Given the description of an element on the screen output the (x, y) to click on. 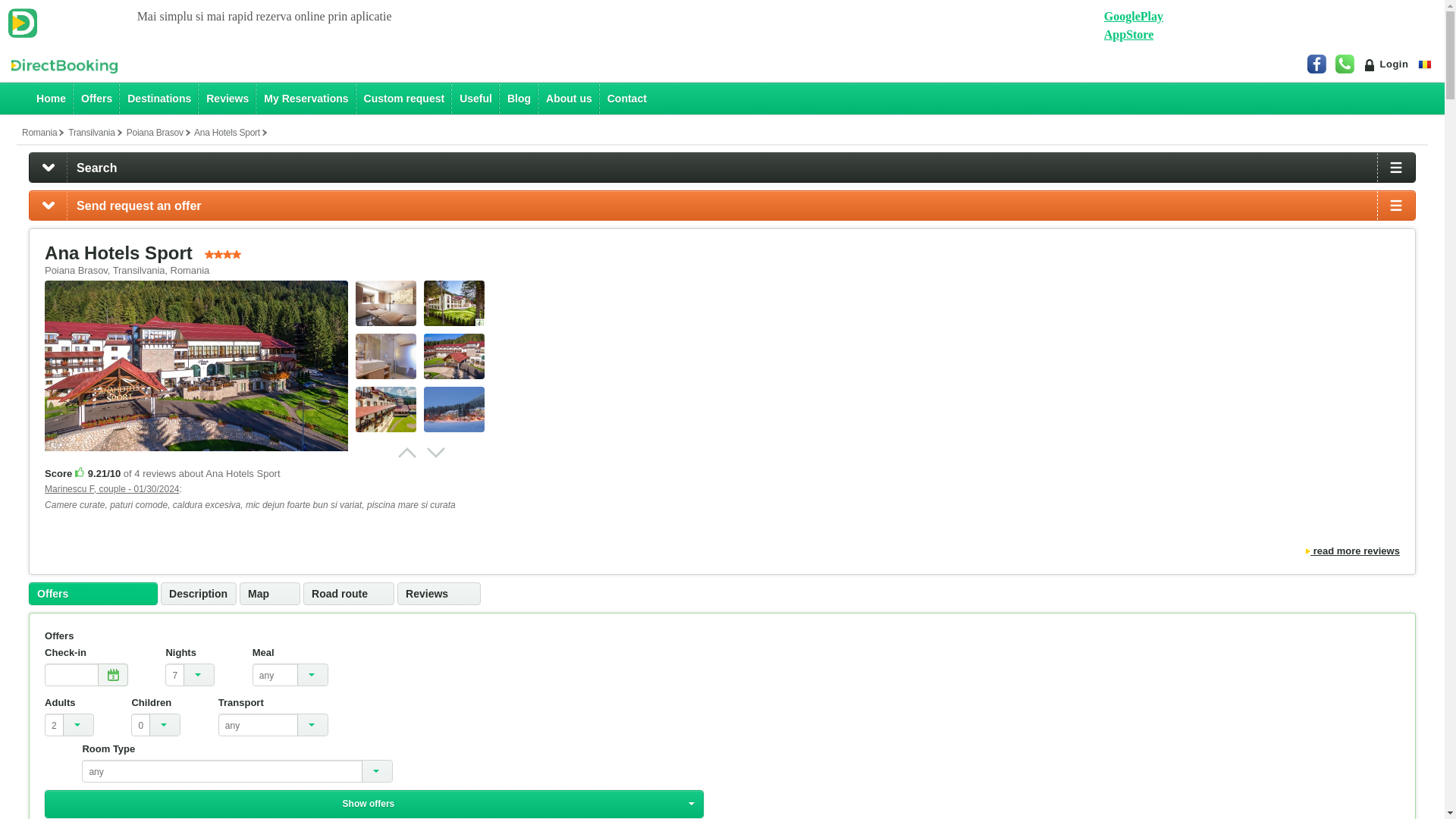
Blog (518, 98)
About us (568, 98)
Home (51, 98)
Contact (626, 98)
AppStore (1128, 33)
My Reservations (305, 98)
Ana Hotels Sport  Poiana Brasov (385, 356)
Destinations (158, 98)
Ana Hotels Sport  Poiana Brasov (453, 356)
Offers (96, 98)
Reviews (227, 98)
Login (1385, 64)
Search (722, 168)
Ana Hotels Sport  Poiana Brasov (385, 302)
Custom request (404, 98)
